Given the description of an element on the screen output the (x, y) to click on. 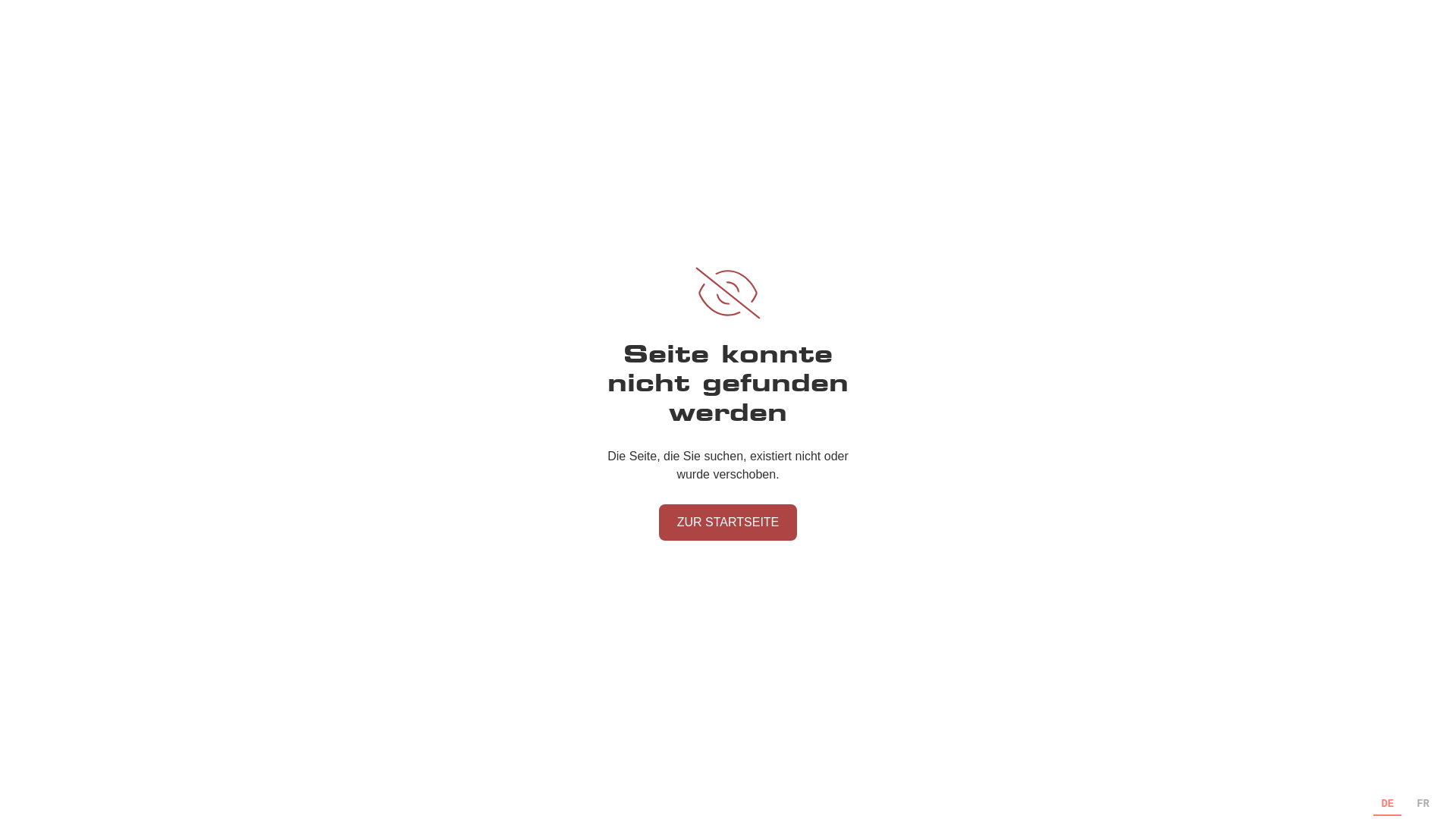
ZUR STARTSEITE Element type: text (727, 522)
DE Element type: text (1386, 803)
FR Element type: text (1422, 803)
